Given the description of an element on the screen output the (x, y) to click on. 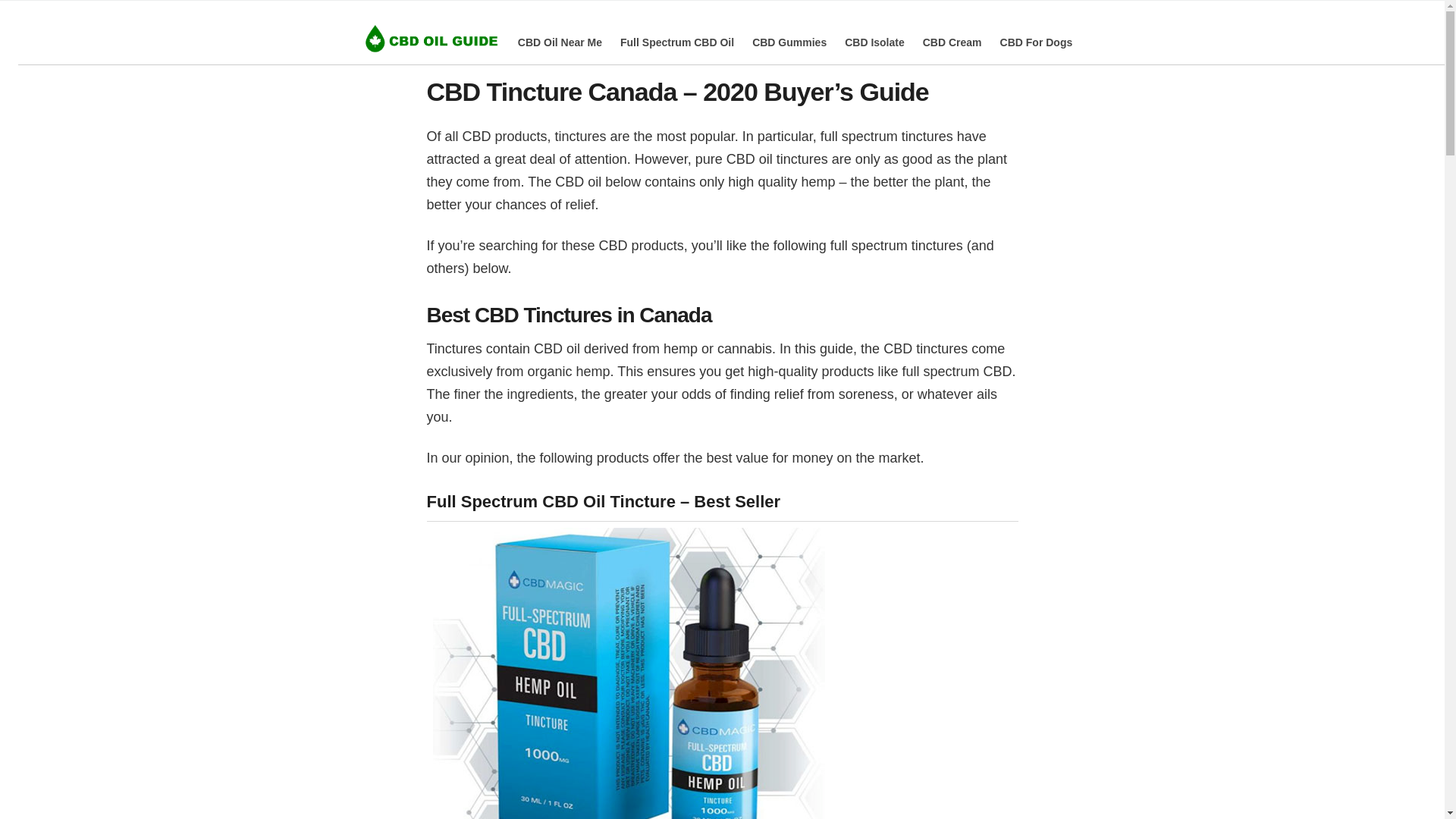
CBD For Dogs (1036, 42)
CBD Isolate (874, 42)
Home (430, 38)
CBD Cream (952, 42)
CBD Oil Near Me (560, 42)
CBD Gummies (789, 42)
Full Spectrum CBD Oil (676, 42)
